Given the description of an element on the screen output the (x, y) to click on. 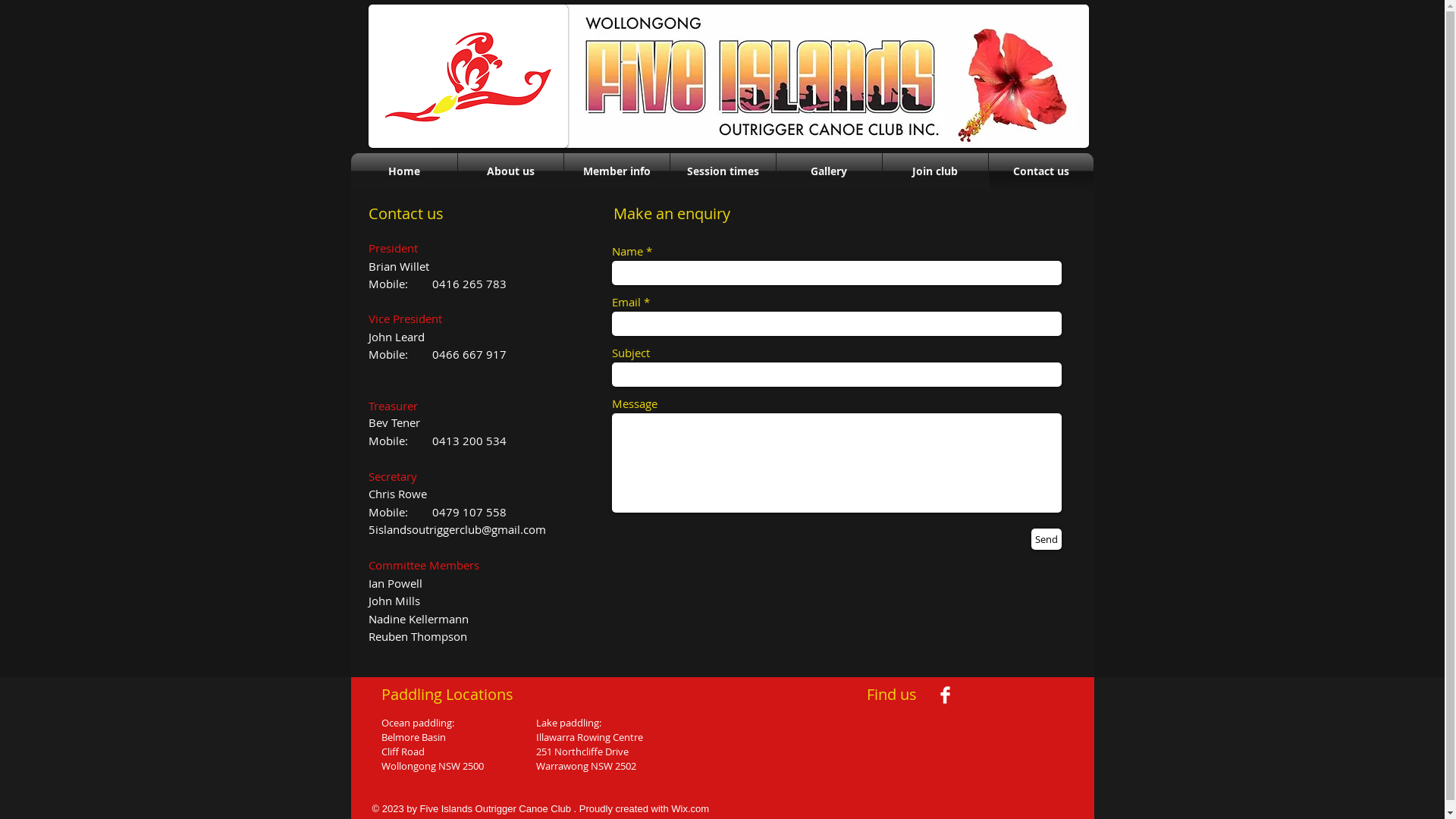
Gallery Element type: text (828, 170)
Member info Element type: text (616, 170)
Join club Element type: text (935, 170)
About us Element type: text (510, 170)
Wix.com Element type: text (690, 808)
Contact us Element type: text (1040, 170)
Session times Element type: text (722, 170)
Send Element type: text (1046, 538)
Home Element type: text (403, 170)
5islandsoutriggerclub@gmail.com Element type: text (457, 528)
